Given the description of an element on the screen output the (x, y) to click on. 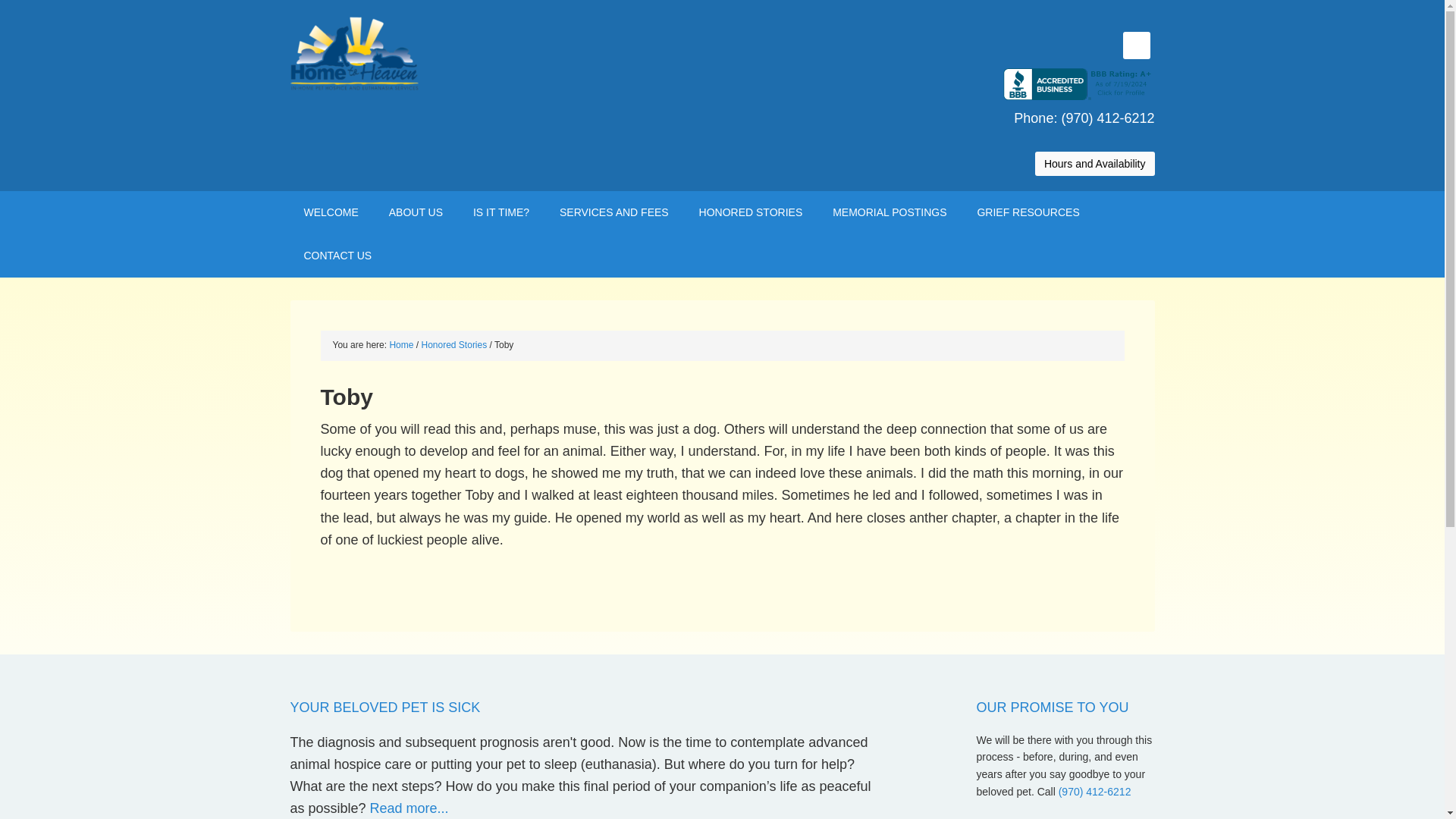
WELCOME (330, 212)
ABOUT US (416, 212)
GRIEF RESOURCES (1027, 212)
Hours and Availability (1094, 174)
MEMORIAL POSTINGS (888, 212)
Read more... (408, 807)
Honored Stories (454, 344)
IS IT TIME? (501, 212)
CONTACT US (337, 255)
Home to Heaven (418, 52)
Home (400, 344)
SERVICES AND FEES (614, 212)
Hours and Availability (1094, 163)
HONORED STORIES (750, 212)
